Given the description of an element on the screen output the (x, y) to click on. 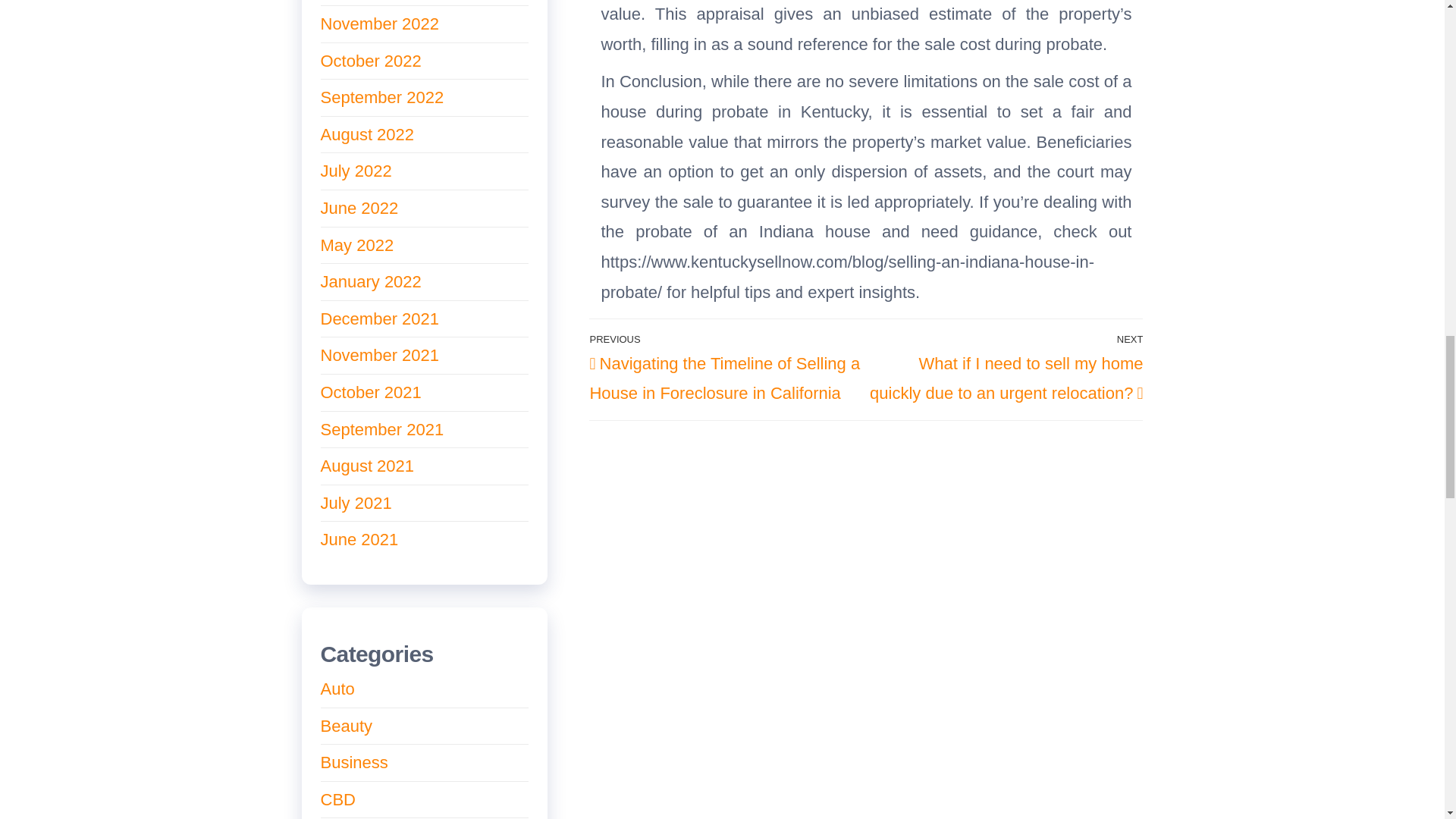
July 2022 (355, 170)
August 2022 (366, 134)
November 2022 (379, 23)
June 2022 (358, 208)
October 2022 (370, 60)
September 2022 (382, 97)
